Given the description of an element on the screen output the (x, y) to click on. 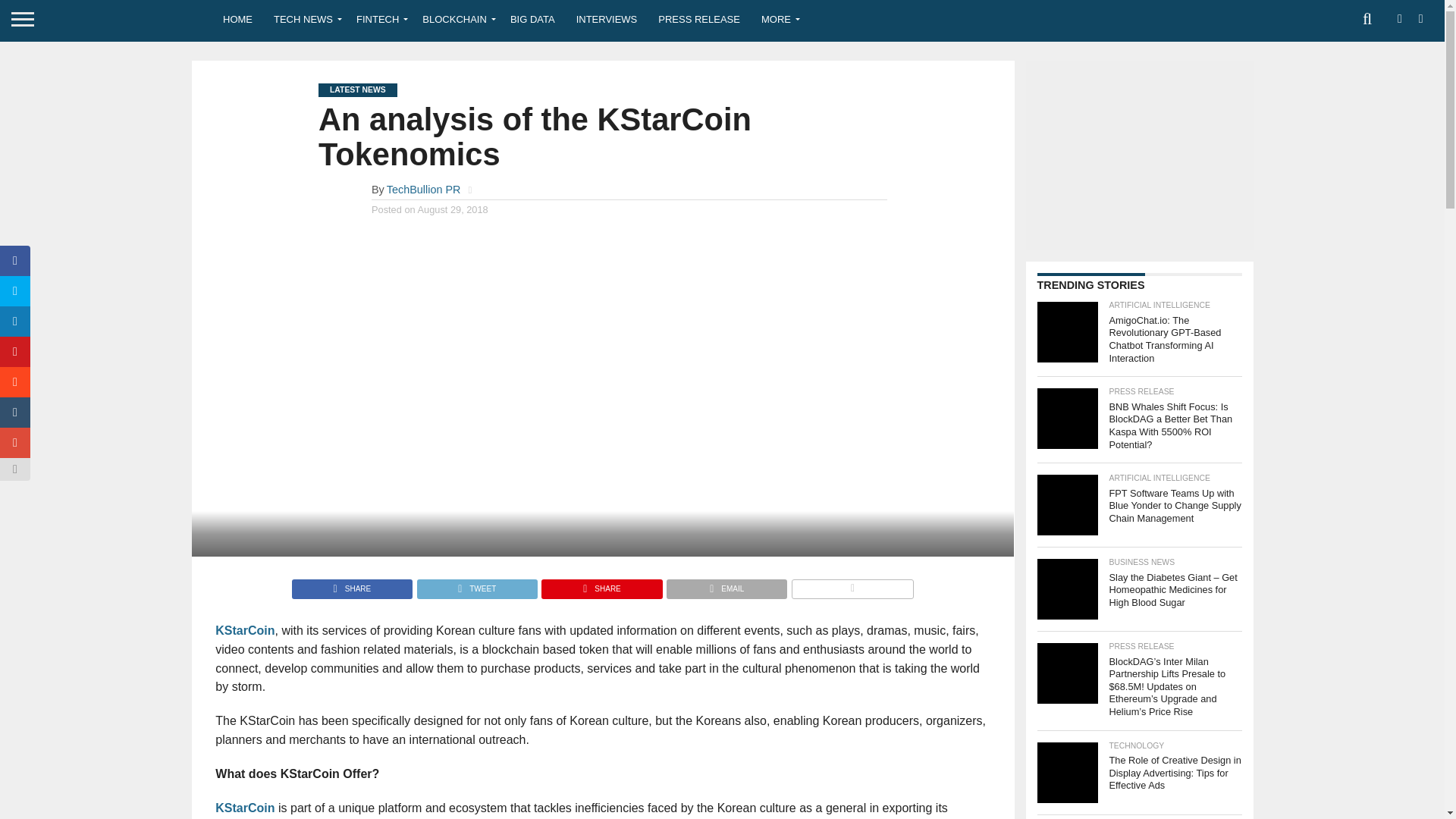
Posts by TechBullion PR (424, 189)
Tweet This Post (476, 584)
Share on Facebook (352, 584)
Pin This Post (601, 584)
